Given the description of an element on the screen output the (x, y) to click on. 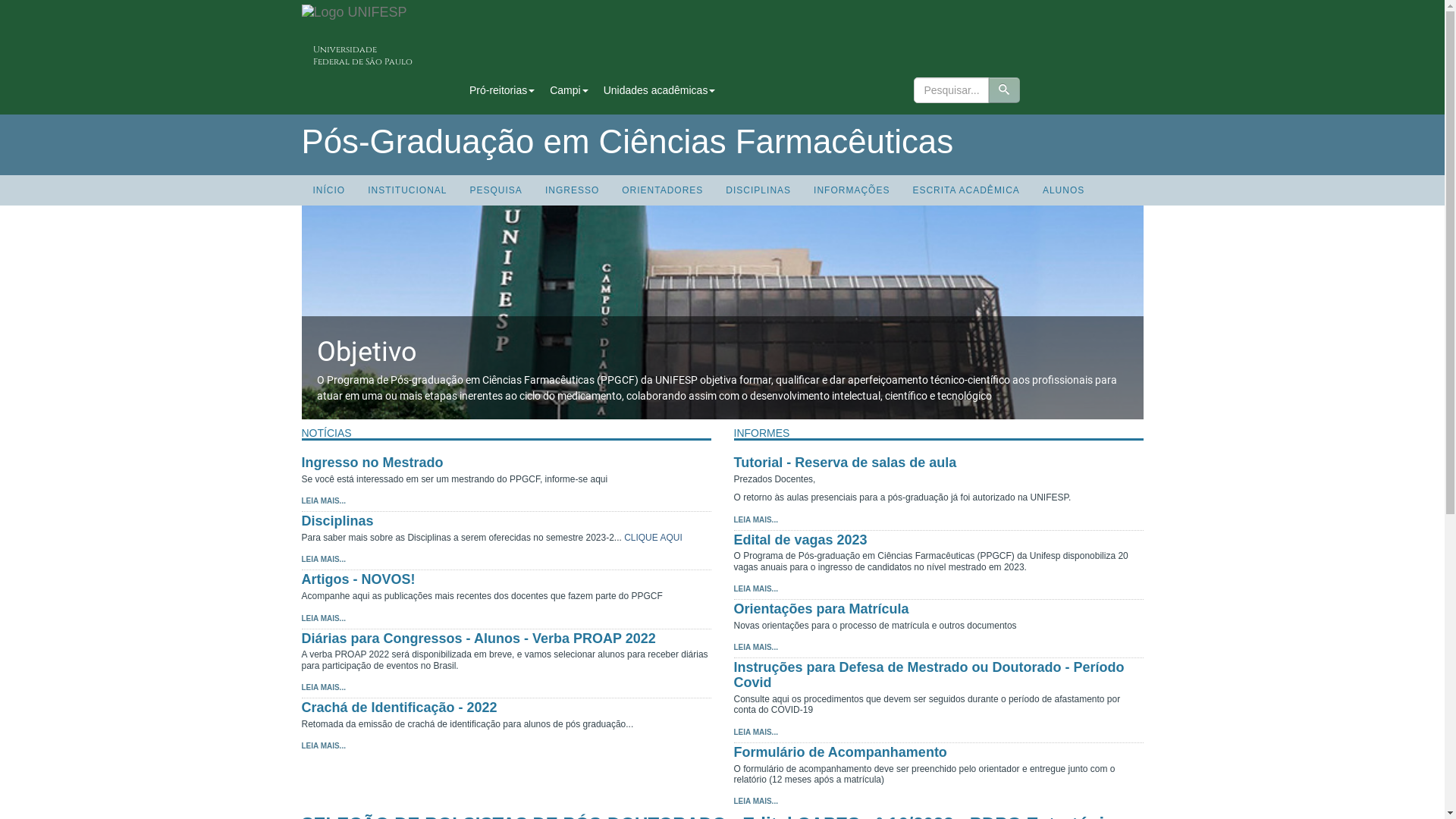
CLIQUE AQUI Element type: text (653, 537)
Tutorial - Reserva de salas de aula Element type: text (845, 462)
Objetivo Element type: text (722, 351)
INSTITUCIONAL Element type: text (407, 190)
Artigos - NOVOS! Element type: text (358, 578)
ORIENTADORES Element type: text (662, 190)
Edital de vagas 2023 Element type: text (800, 539)
LEIA MAIS... Element type: text (756, 519)
PESQUISA Element type: text (495, 190)
Disciplinas Element type: text (337, 520)
Campi Element type: text (568, 89)
LEIA MAIS... Element type: text (756, 647)
OK Element type: hover (1003, 90)
INGRESSO Element type: text (571, 190)
LEIA MAIS... Element type: text (323, 559)
Ingresso no Mestrado Element type: text (372, 462)
LEIA MAIS... Element type: text (756, 732)
LEIA MAIS... Element type: text (323, 745)
LEIA MAIS... Element type: text (756, 801)
DISCIPLINAS Element type: text (758, 190)
LEIA MAIS... Element type: text (323, 687)
LEIA MAIS... Element type: text (323, 618)
LEIA MAIS... Element type: text (323, 500)
LEIA MAIS... Element type: text (756, 588)
ALUNOS Element type: text (1063, 190)
